Given the description of an element on the screen output the (x, y) to click on. 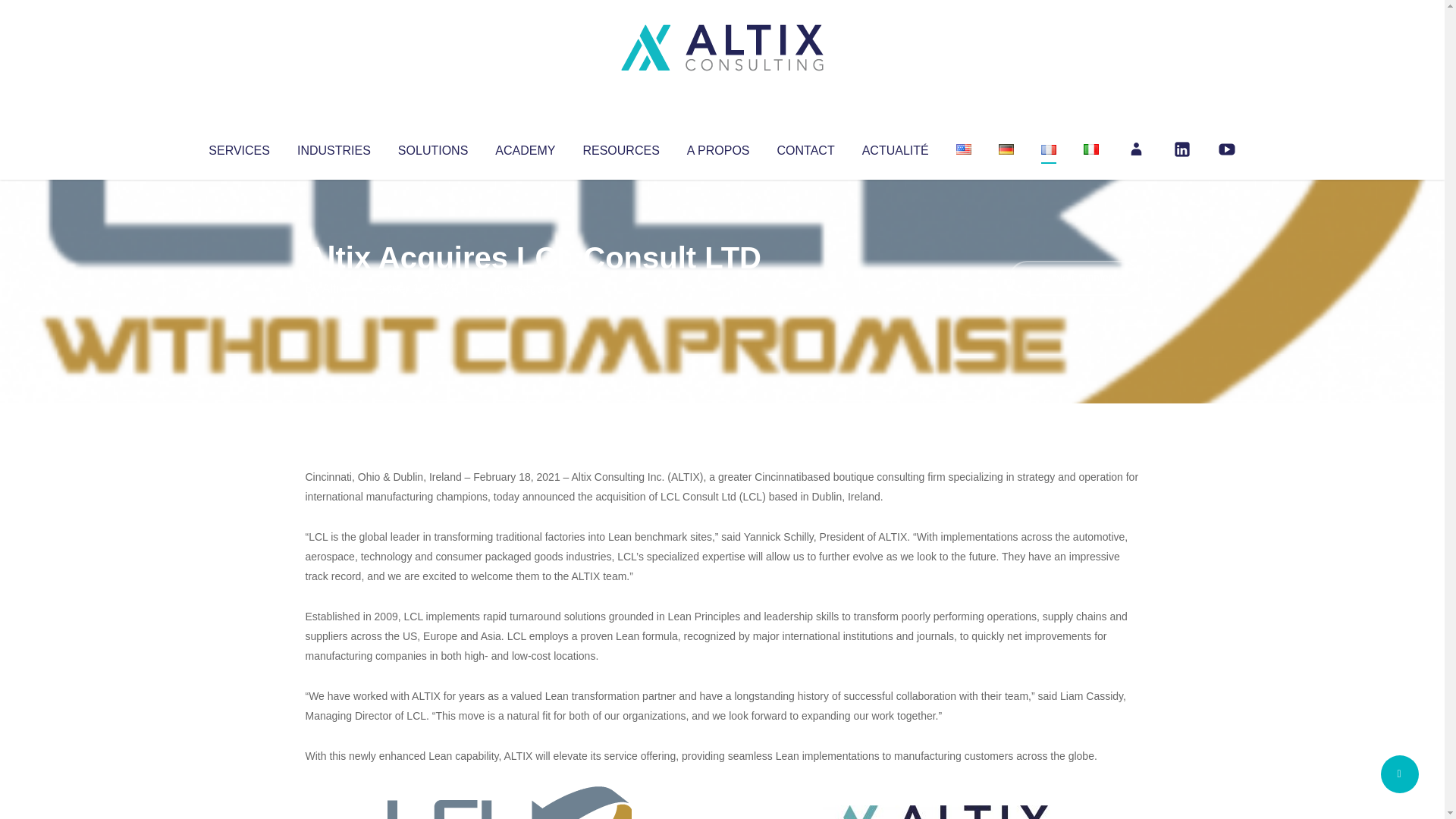
INDUSTRIES (334, 146)
SOLUTIONS (432, 146)
SERVICES (238, 146)
Articles par Altix (333, 287)
Uncategorized (530, 287)
A PROPOS (718, 146)
No Comments (1073, 278)
ACADEMY (524, 146)
Altix (333, 287)
RESOURCES (620, 146)
